Given the description of an element on the screen output the (x, y) to click on. 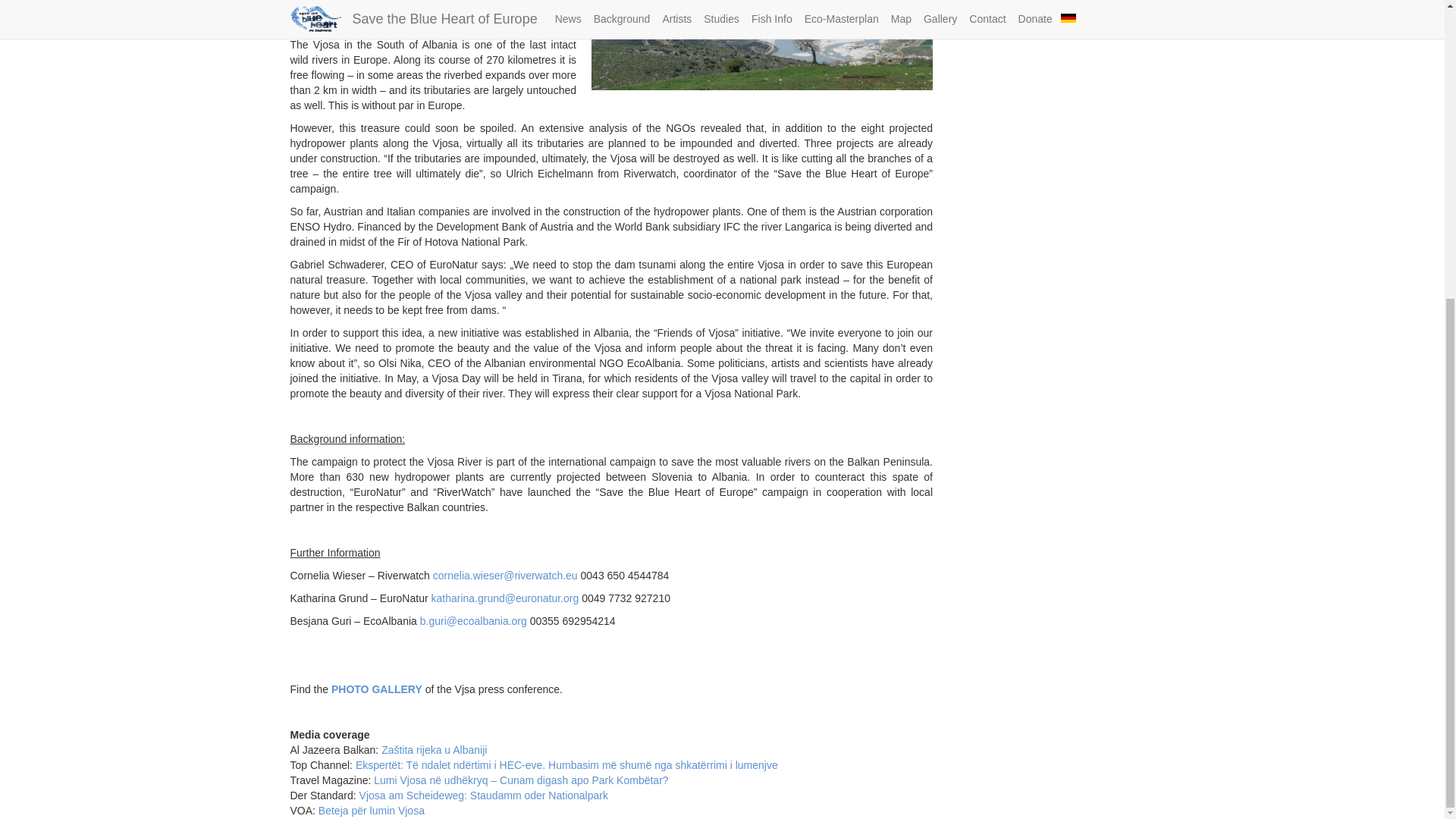
Vjosa am Scheideweg: Staudamm oder Nationalpark (483, 795)
PHOTO GALLERY (376, 689)
